Given the description of an element on the screen output the (x, y) to click on. 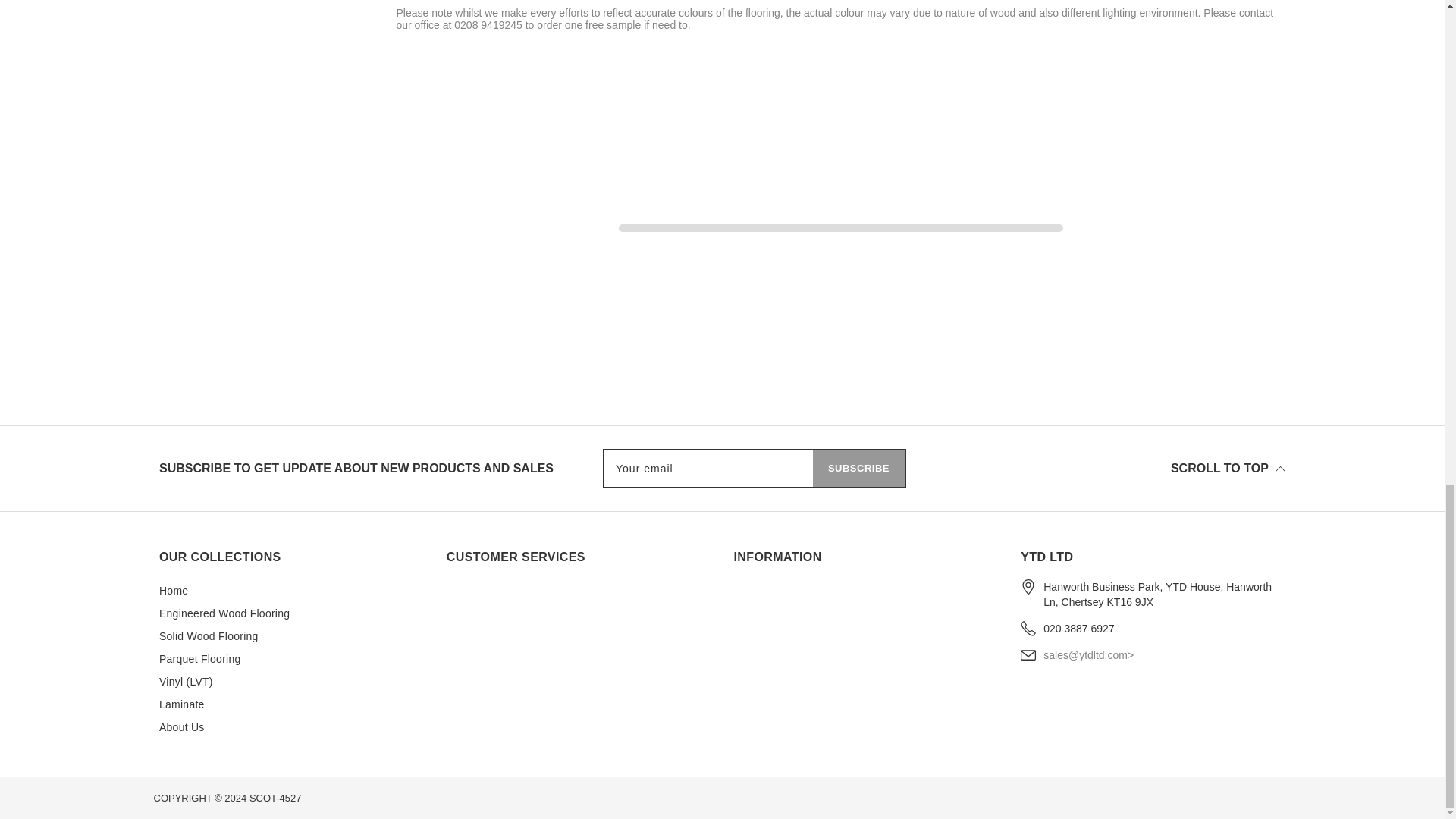
SCROLL TO TOP (1100, 468)
SCROLL TO TOP (1227, 468)
